Given the description of an element on the screen output the (x, y) to click on. 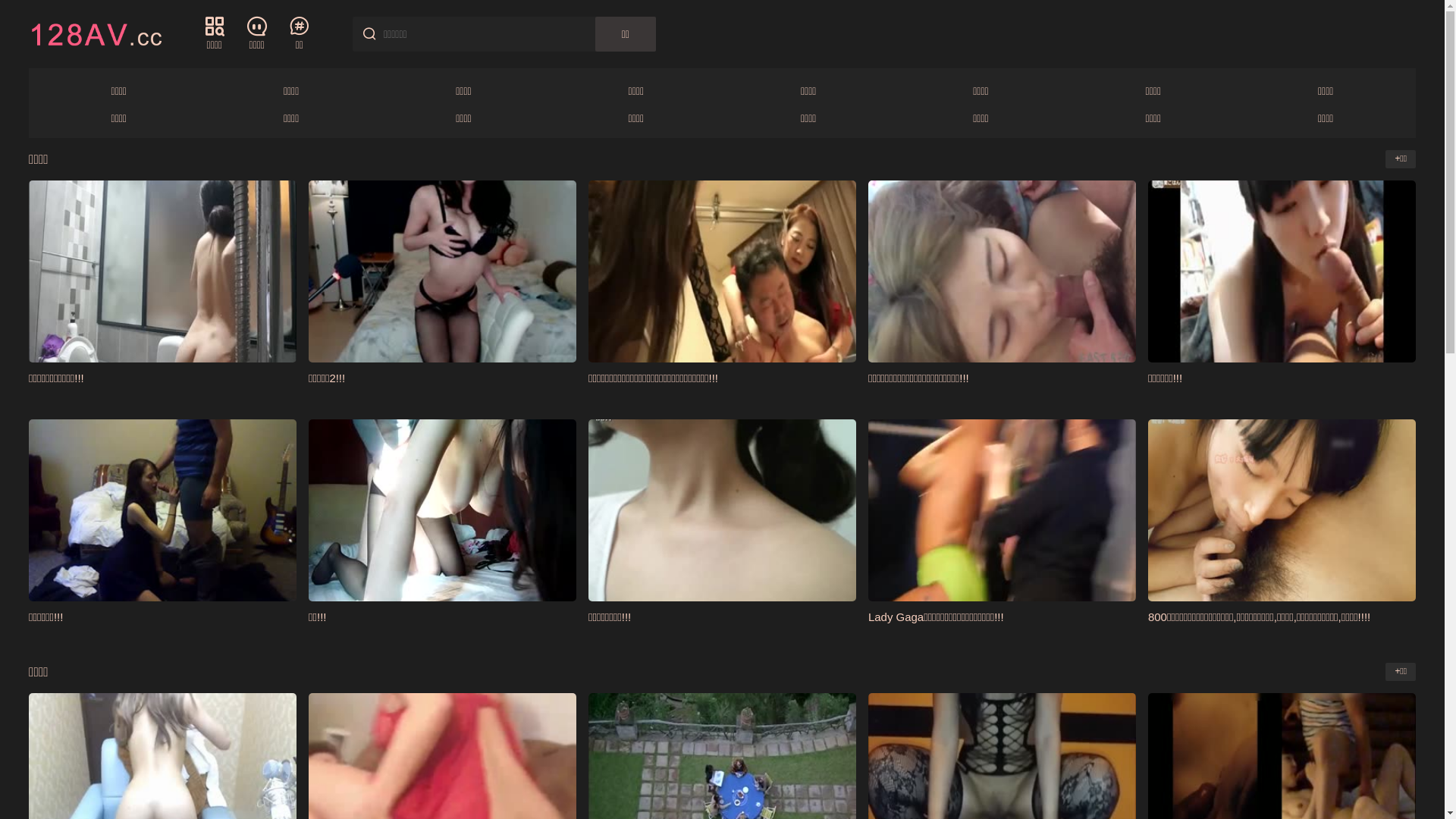
128AV Element type: hover (94, 33)
